Given the description of an element on the screen output the (x, y) to click on. 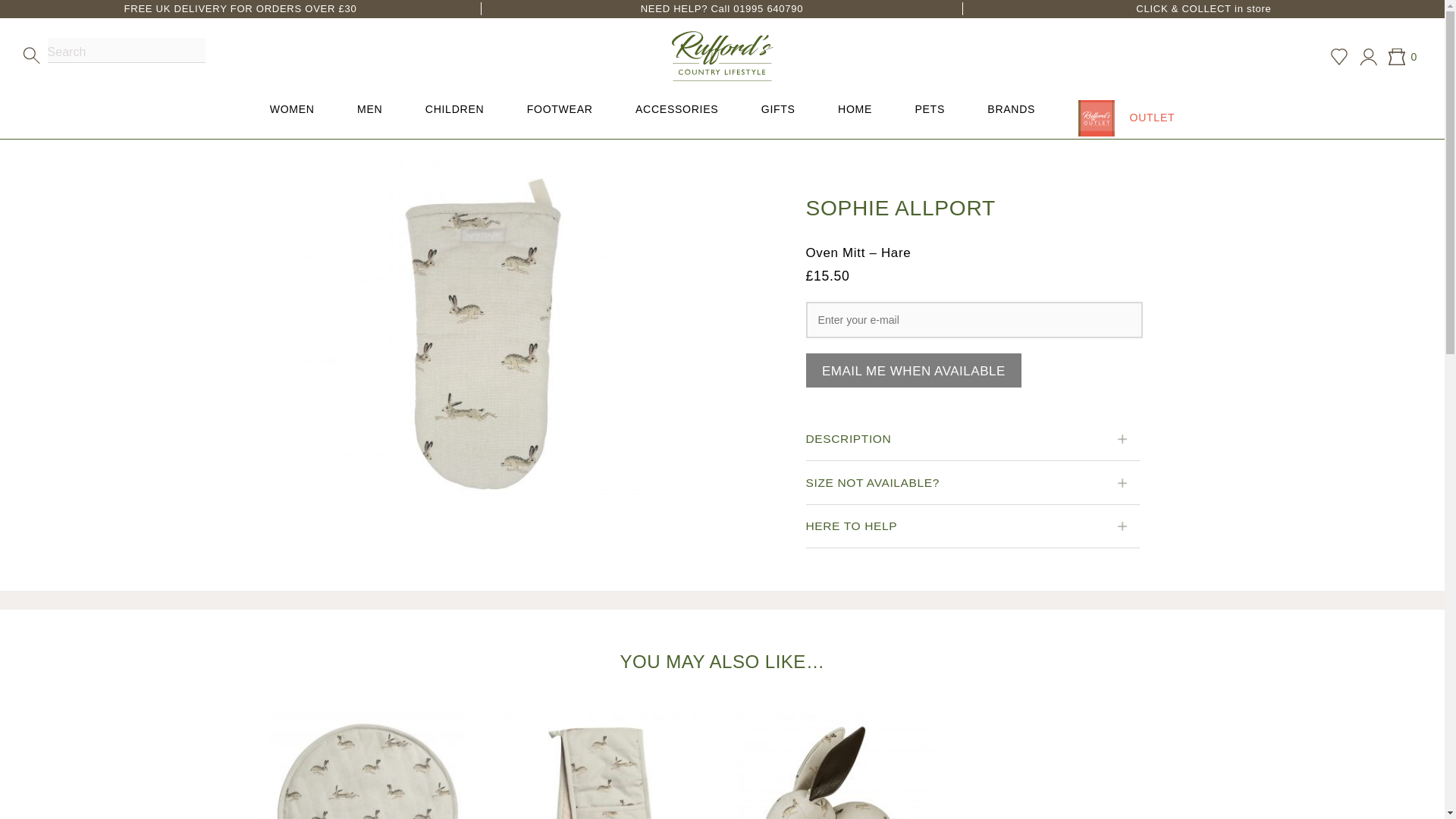
WOMEN (292, 110)
all25150m-hare-oven-mitt-cut-out-high-res (479, 335)
0 (1396, 56)
01995 640790 (768, 8)
View brand (899, 208)
